Given the description of an element on the screen output the (x, y) to click on. 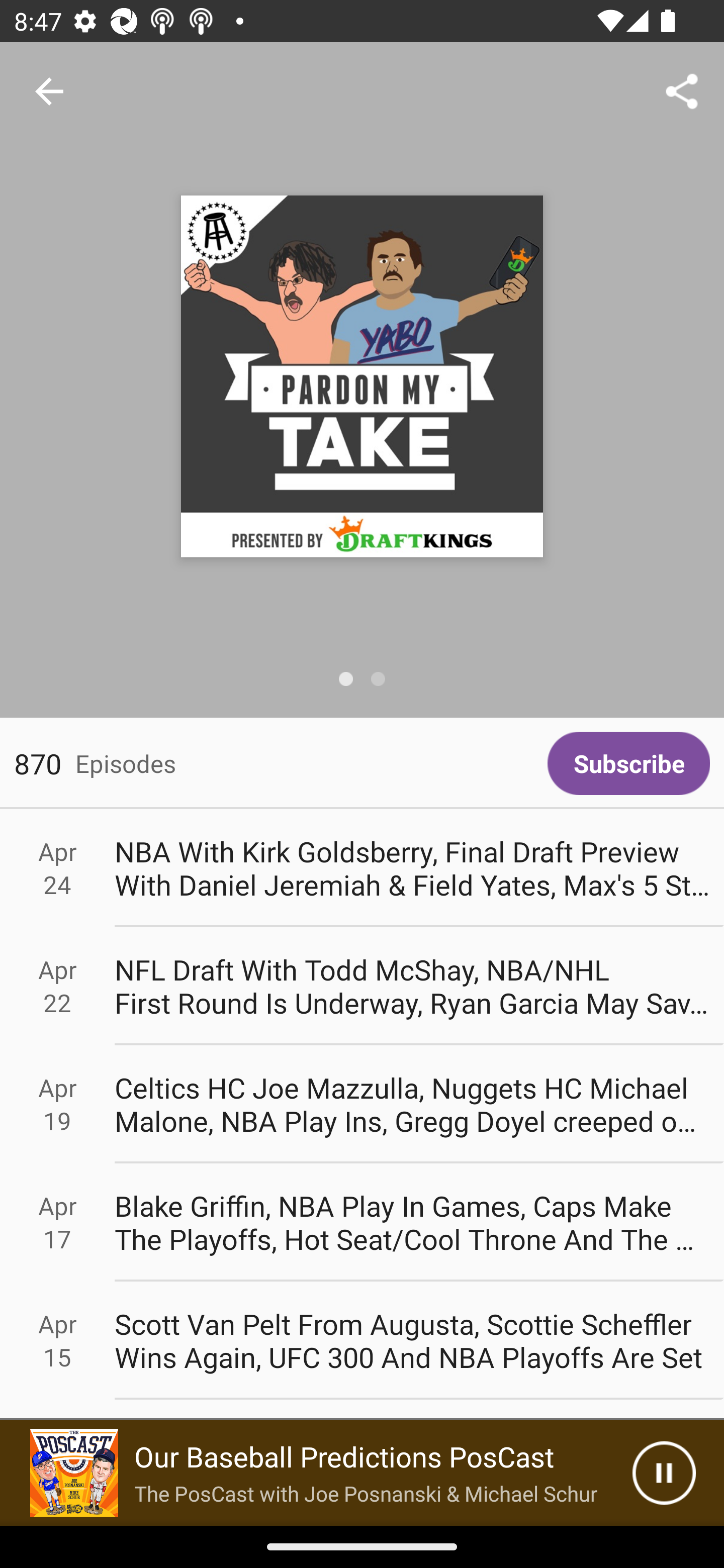
Navigate up (49, 91)
Share... (681, 90)
Subscribe (628, 763)
Pause (663, 1472)
